Given the description of an element on the screen output the (x, y) to click on. 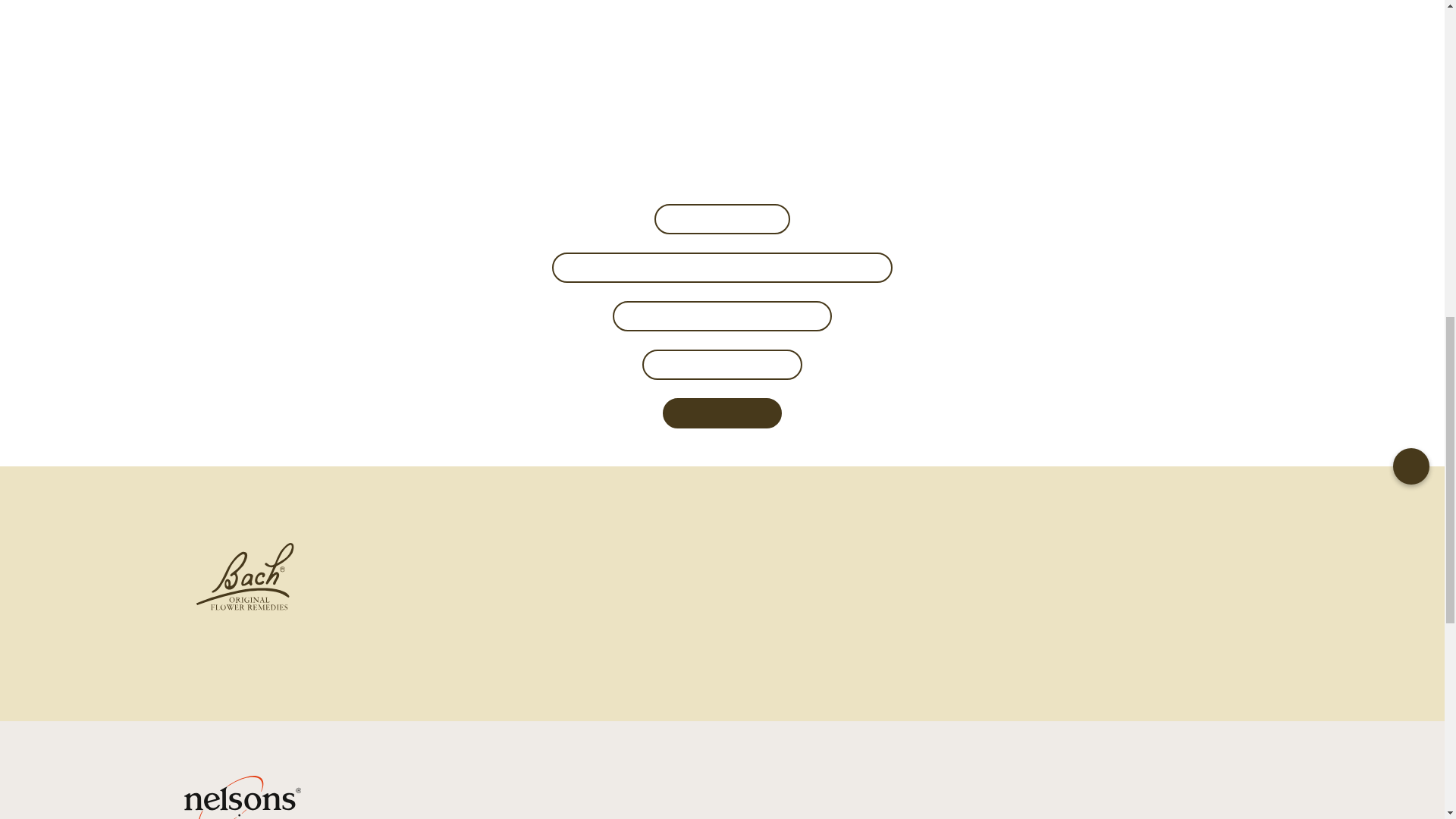
Opens new window to RescueRemedy.com (721, 314)
Opens new window to Nelsons.net (722, 363)
Opens new window to BachRemedies.com (722, 266)
